Given the description of an element on the screen output the (x, y) to click on. 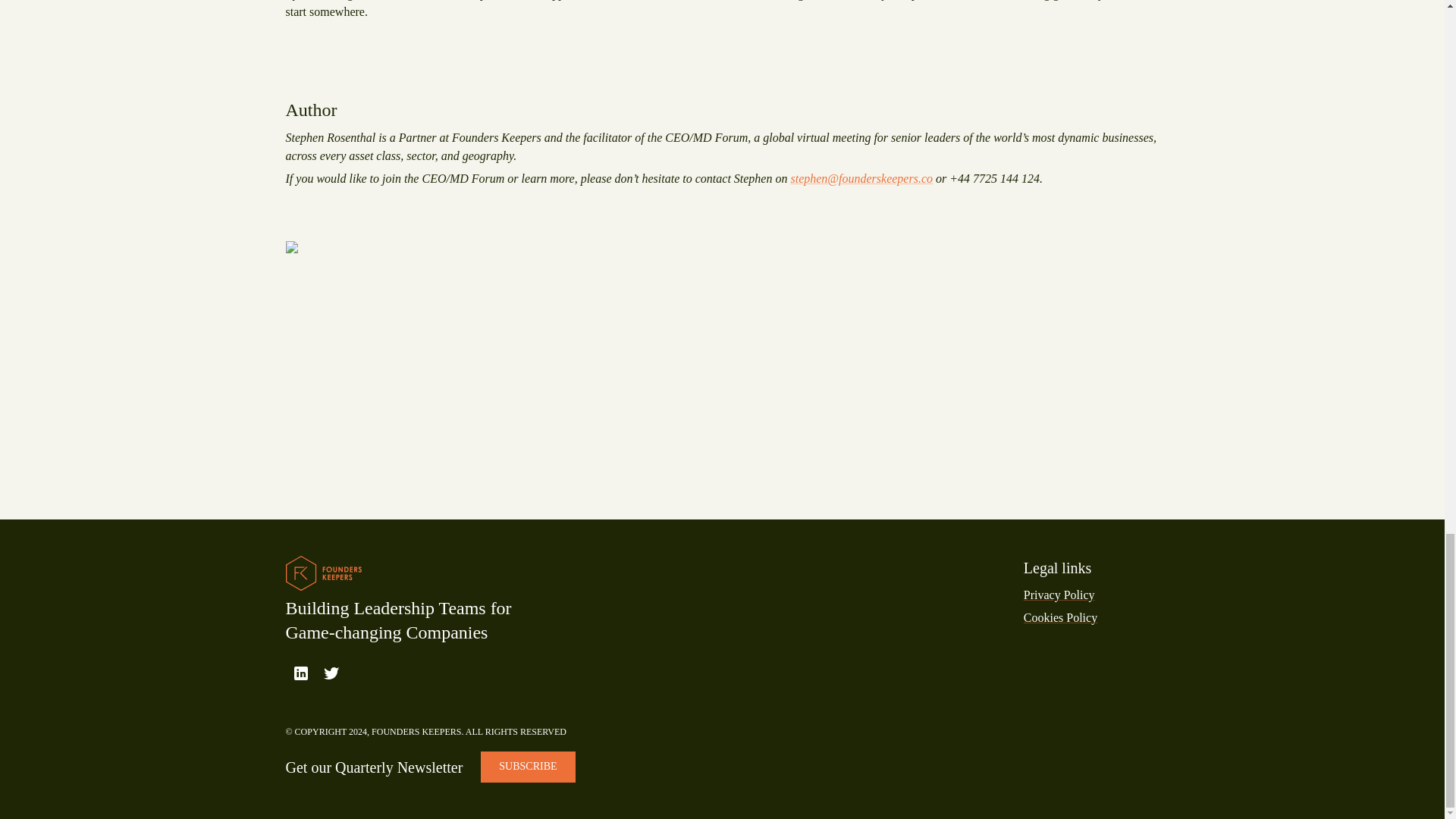
Privacy Policy (1058, 594)
Cookies Policy (1060, 617)
SUBSCRIBE (527, 766)
